Given the description of an element on the screen output the (x, y) to click on. 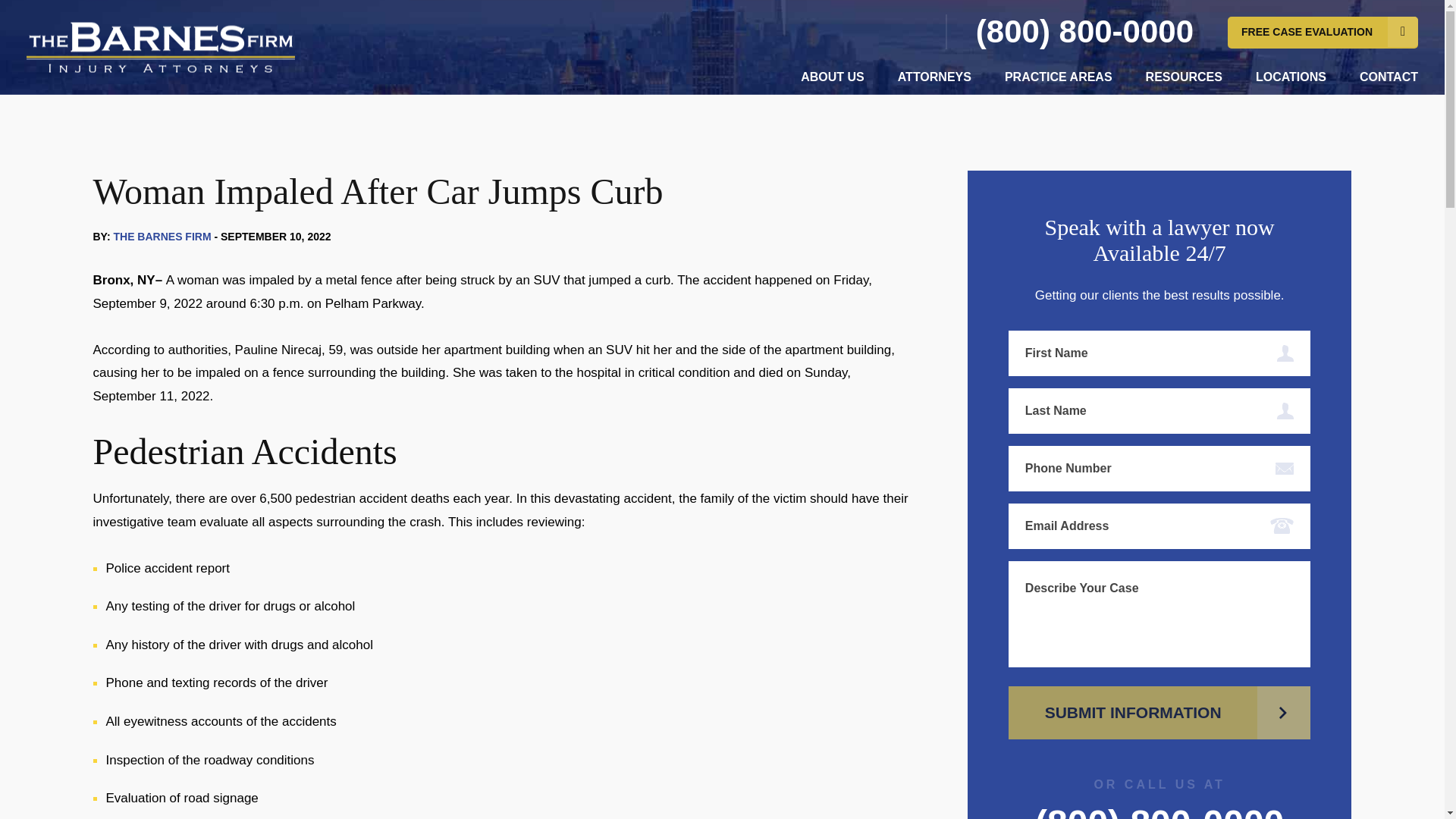
RESOURCES (1184, 76)
ATTORNEYS (934, 76)
submit information (1160, 712)
ABOUT US (832, 76)
PRACTICE AREAS (1058, 76)
LOCATIONS (1290, 76)
FREE CASE EVALUATION (1322, 32)
